Given the description of an element on the screen output the (x, y) to click on. 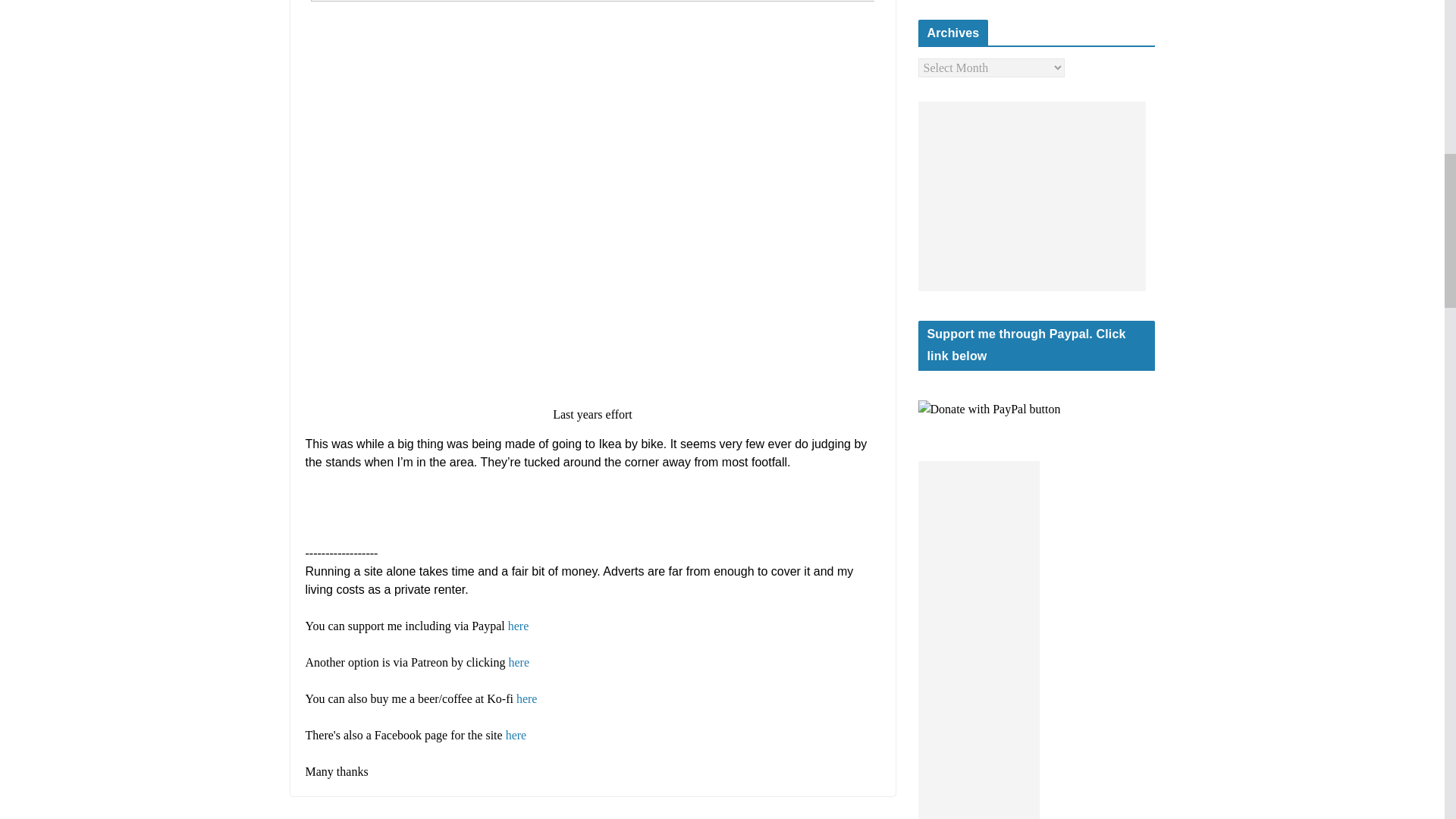
here (526, 698)
here (518, 625)
here (518, 662)
here (516, 735)
